Given the description of an element on the screen output the (x, y) to click on. 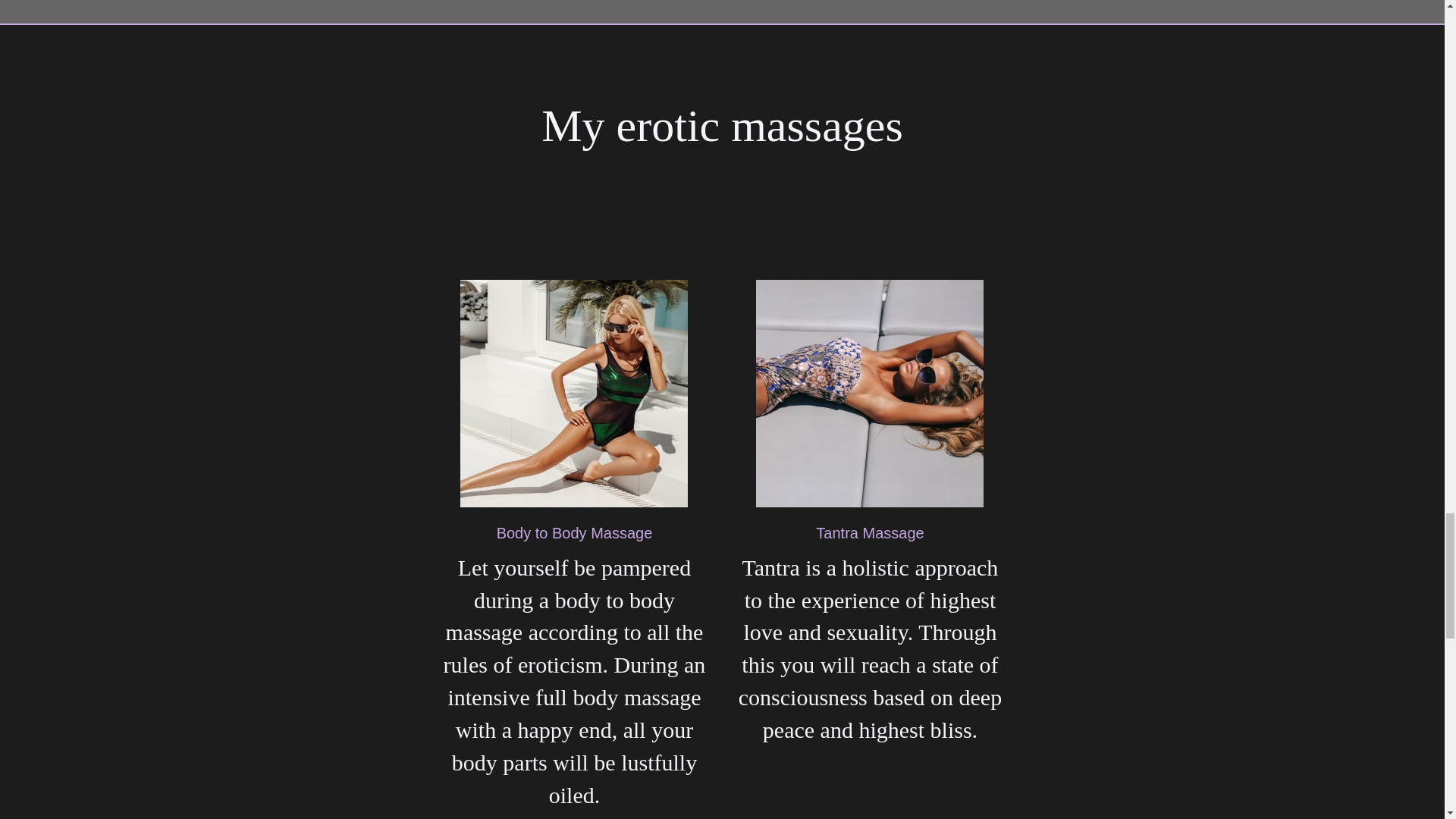
Tantra Massage (869, 532)
Body to Body Massage (574, 532)
